Given the description of an element on the screen output the (x, y) to click on. 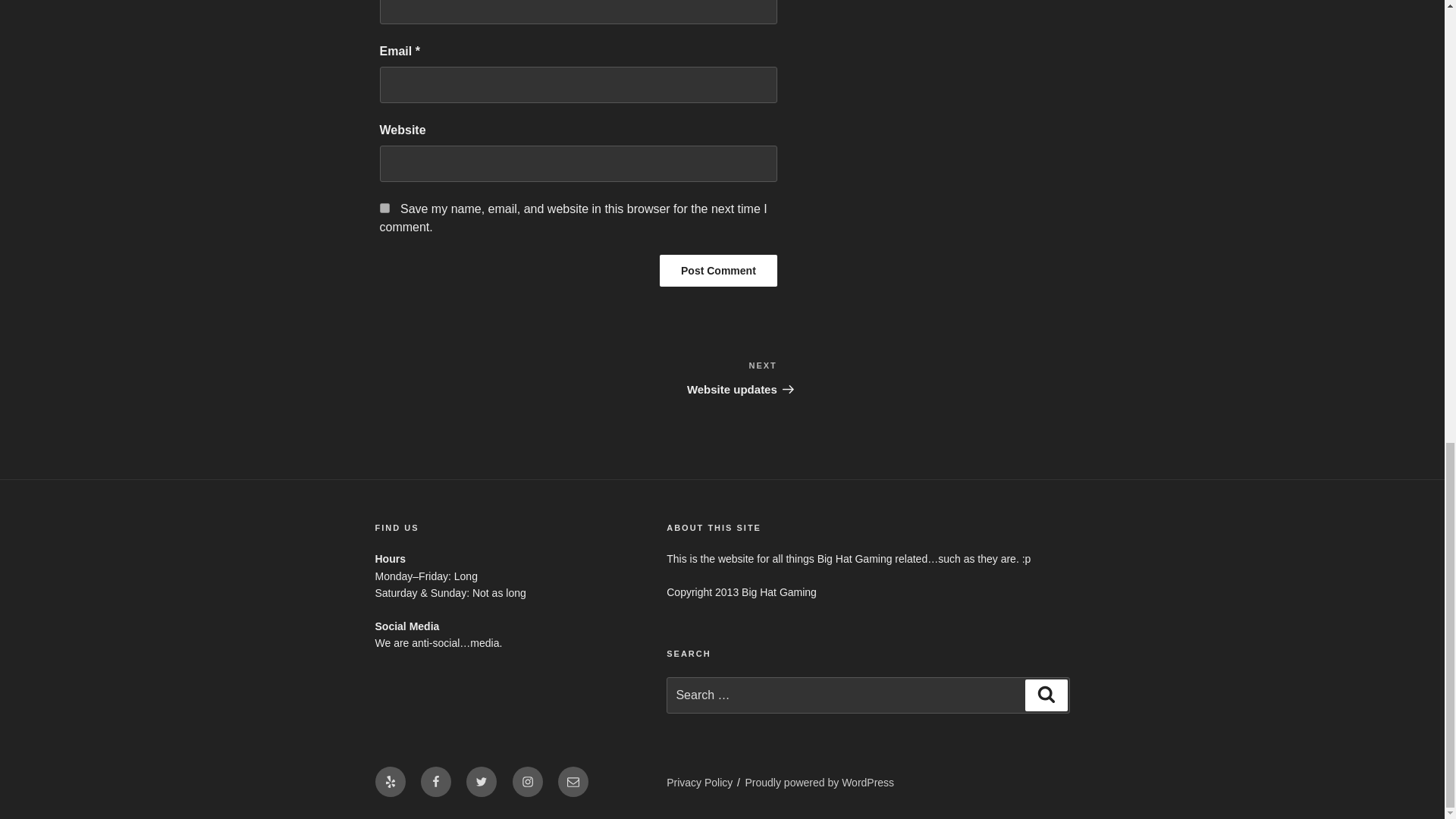
yes (383, 207)
Email (572, 781)
Yelp (389, 781)
Facebook (435, 781)
Privacy Policy (699, 782)
Instagram (527, 781)
Proudly powered by WordPress (820, 782)
Search (1046, 695)
Post Comment (718, 270)
